Given the description of an element on the screen output the (x, y) to click on. 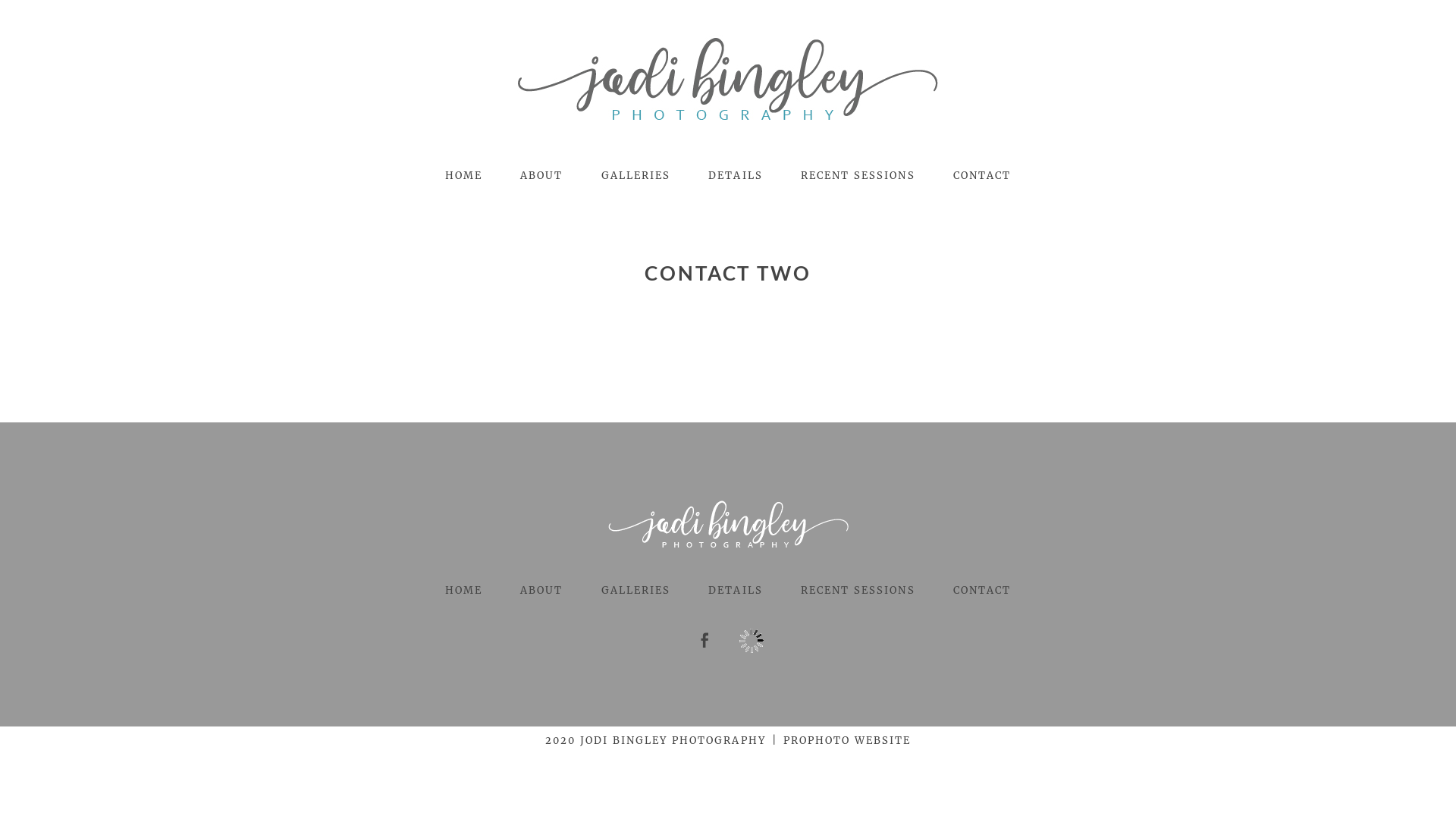
DETAILS Element type: text (735, 175)
RECENT SESSIONS Element type: text (857, 589)
HOME Element type: text (463, 589)
CONTACT Element type: text (982, 175)
RECENT SESSIONS Element type: text (857, 175)
CONTACT Element type: text (982, 589)
ABOUT Element type: text (541, 175)
GALLERIES Element type: text (635, 589)
DETAILS Element type: text (735, 589)
HOME Element type: text (463, 175)
PROPHOTO WEBSITE Element type: text (847, 740)
GALLERIES Element type: text (635, 175)
ABOUT Element type: text (541, 589)
